Given the description of an element on the screen output the (x, y) to click on. 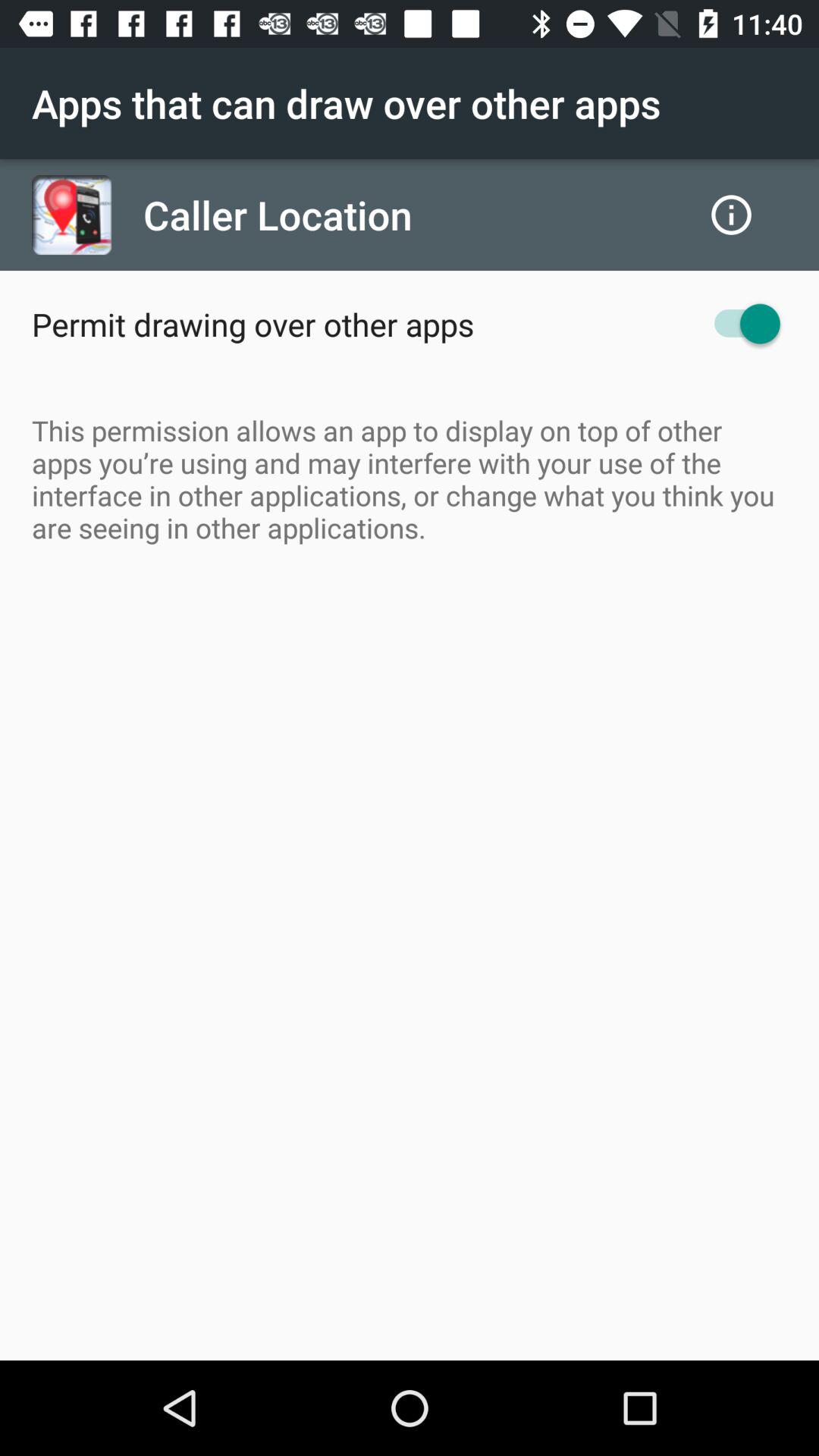
flip to the permit drawing over app (252, 323)
